Given the description of an element on the screen output the (x, y) to click on. 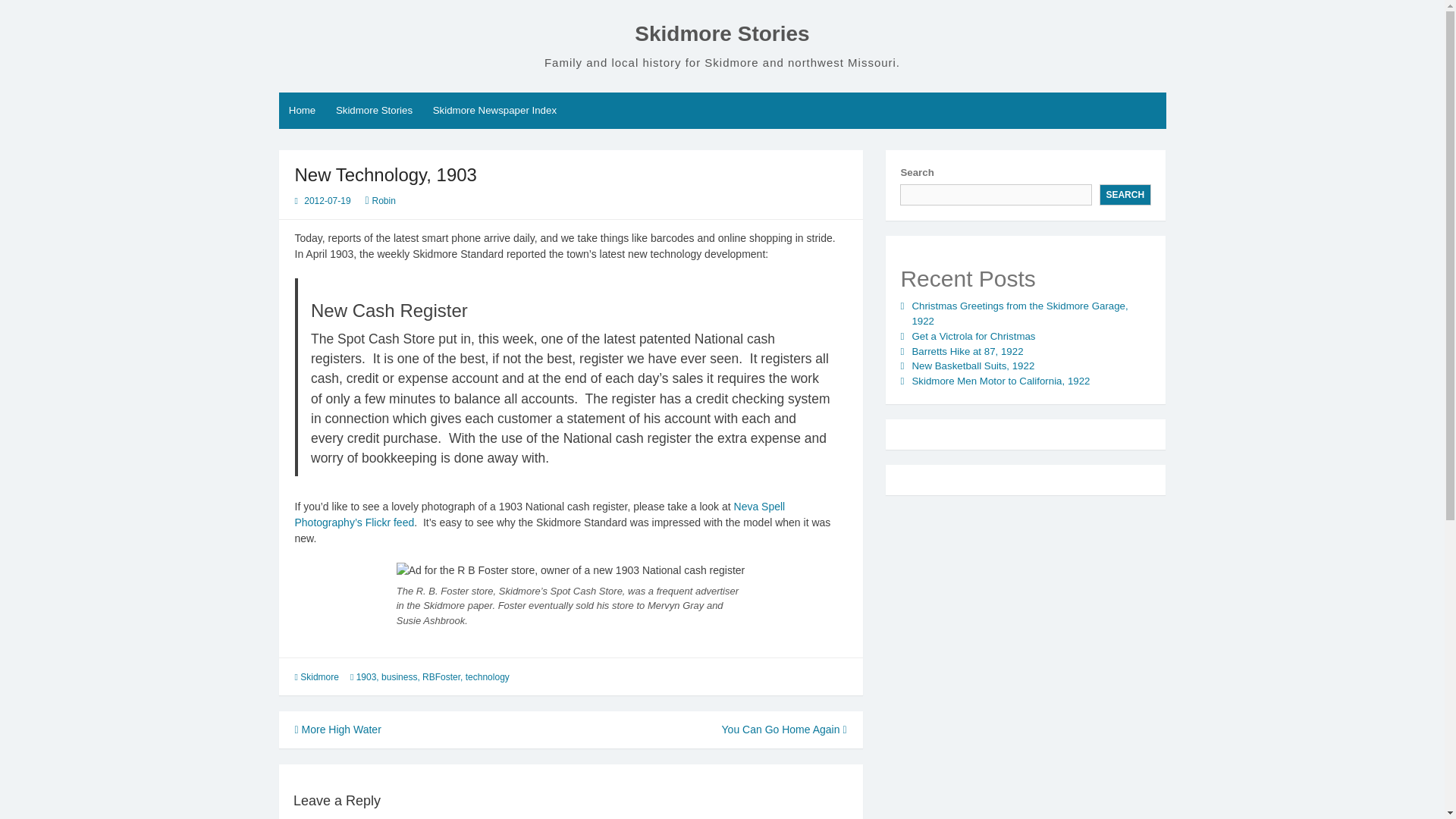
2012-07-19 (327, 200)
Skidmore Men Motor to California, 1922 (1000, 380)
Skidmore Newspaper Index (494, 110)
Get a Victrola for Christmas (973, 336)
SEARCH (1125, 194)
Barretts Hike at 87, 1922 (967, 351)
Christmas Greetings from the Skidmore Garage, 1922 (1018, 313)
Skidmore Stories (721, 33)
Skidmore Stories (374, 110)
Home (302, 110)
Robin (384, 200)
New Basketball Suits, 1922 (972, 365)
